Given the description of an element on the screen output the (x, y) to click on. 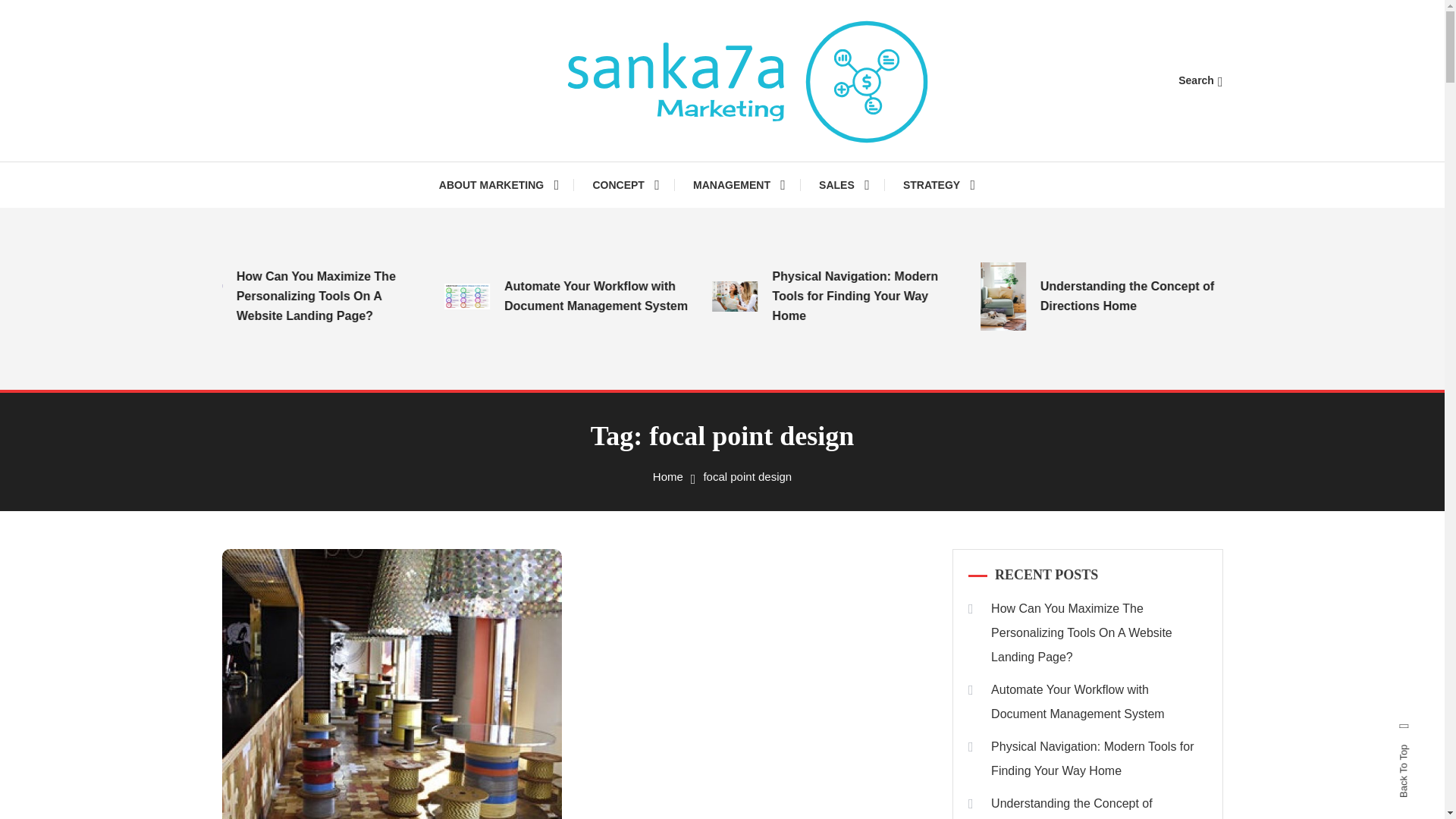
Automate Your Workflow with Document Management System (644, 296)
CONCEPT (625, 185)
Physical Navigation: Modern Tools for Finding Your Way Home (911, 295)
SALES (844, 185)
Search (1200, 80)
ABOUT MARKETING (506, 185)
Skip To Content (40, 10)
Search (768, 434)
